Given the description of an element on the screen output the (x, y) to click on. 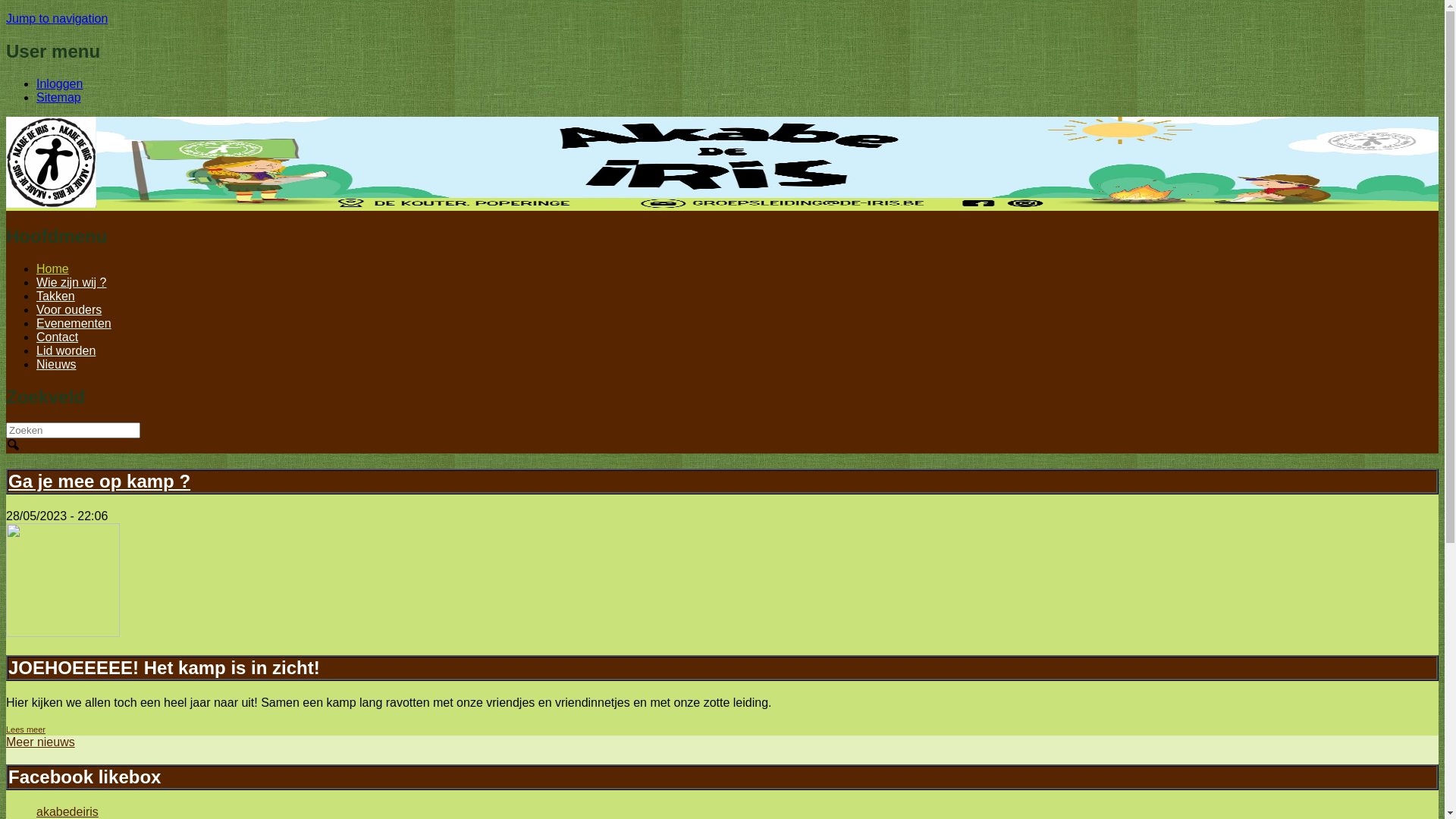
Geef de woorden op waarnaar u wilt zoeken. Element type: hover (73, 430)
Nieuws Element type: text (55, 363)
Wie zijn wij ? Element type: text (71, 282)
Lid worden Element type: text (65, 350)
Inloggen Element type: text (59, 83)
Home Element type: hover (51, 203)
Contact Element type: text (57, 336)
Sitemap Element type: text (58, 97)
Lees meer Element type: text (25, 729)
Takken Element type: text (55, 295)
Ga je mee op kamp ? Element type: text (99, 480)
Jump to navigation Element type: text (56, 18)
Home Element type: text (52, 268)
Evenementen Element type: text (73, 322)
akabedeiris Element type: text (67, 811)
Meer nieuws Element type: text (40, 741)
Voor ouders Element type: text (68, 309)
